Given the description of an element on the screen output the (x, y) to click on. 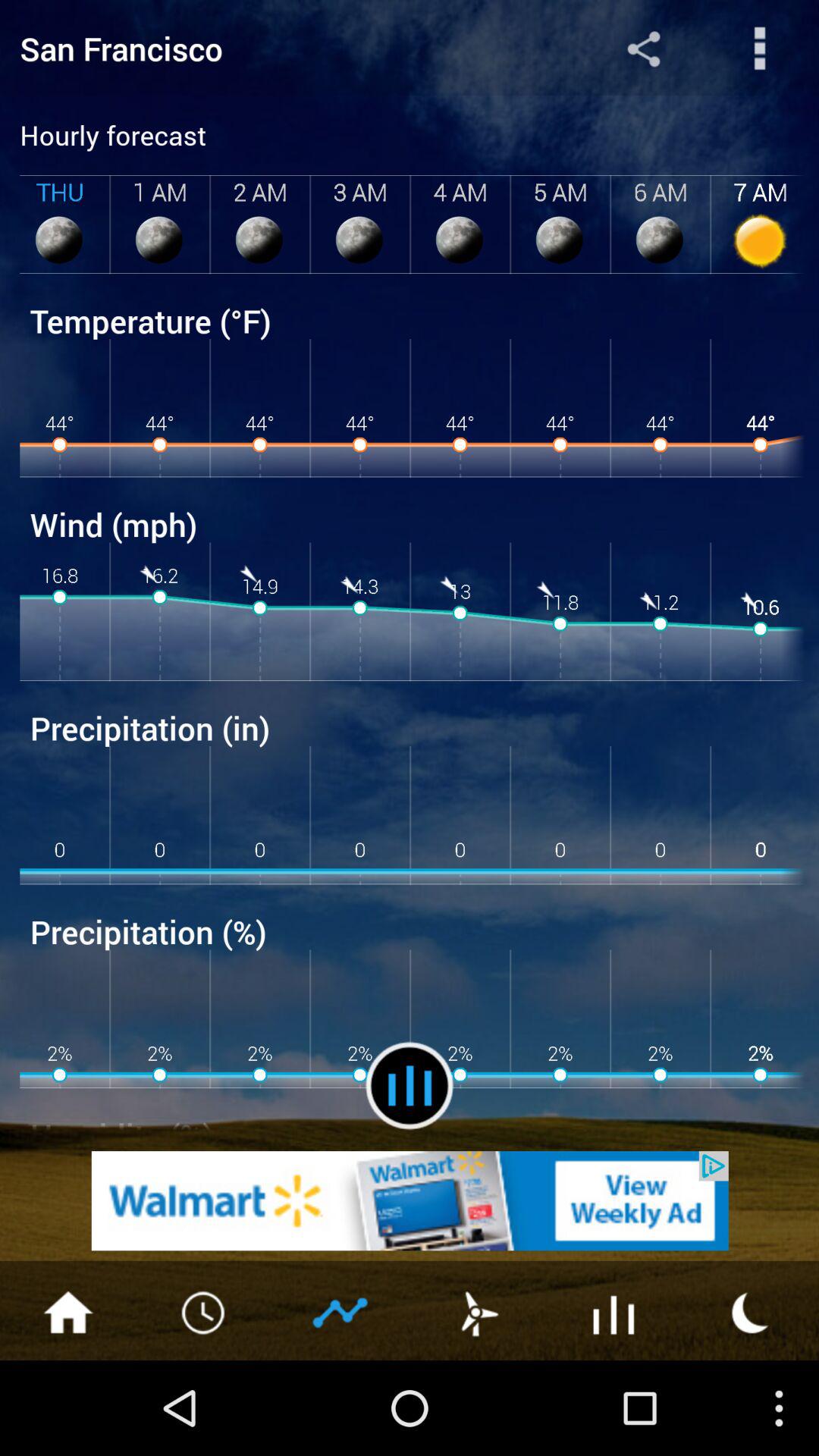
home (68, 1311)
